Given the description of an element on the screen output the (x, y) to click on. 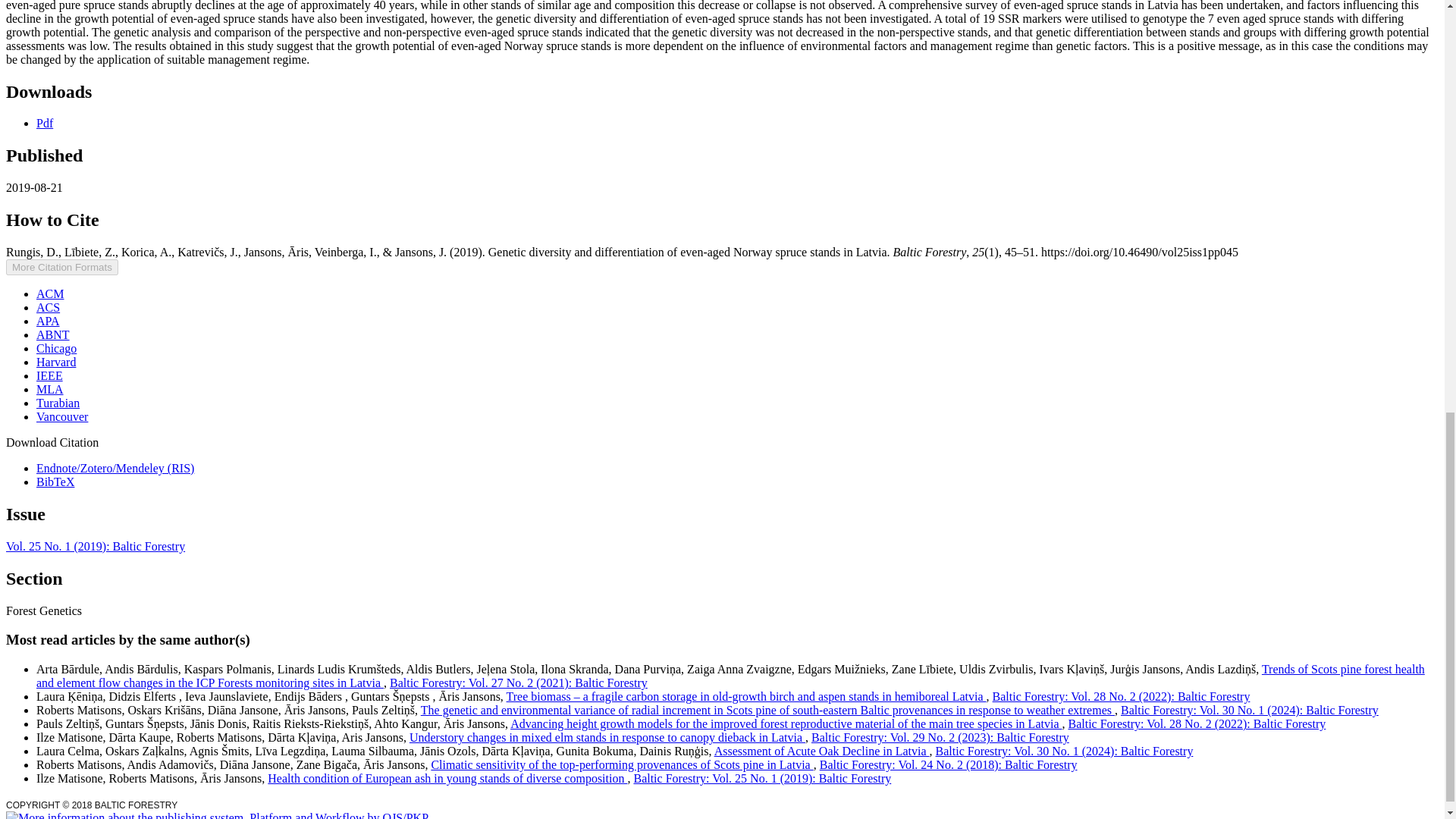
ACM (50, 293)
Chicago (56, 348)
APA (47, 320)
ACS (47, 307)
Turabian (58, 402)
More Citation Formats (61, 267)
BibTeX (55, 481)
IEEE (49, 375)
ABNT (52, 334)
Harvard (55, 361)
MLA (50, 389)
Vancouver (61, 416)
Pdf (44, 123)
